Given the description of an element on the screen output the (x, y) to click on. 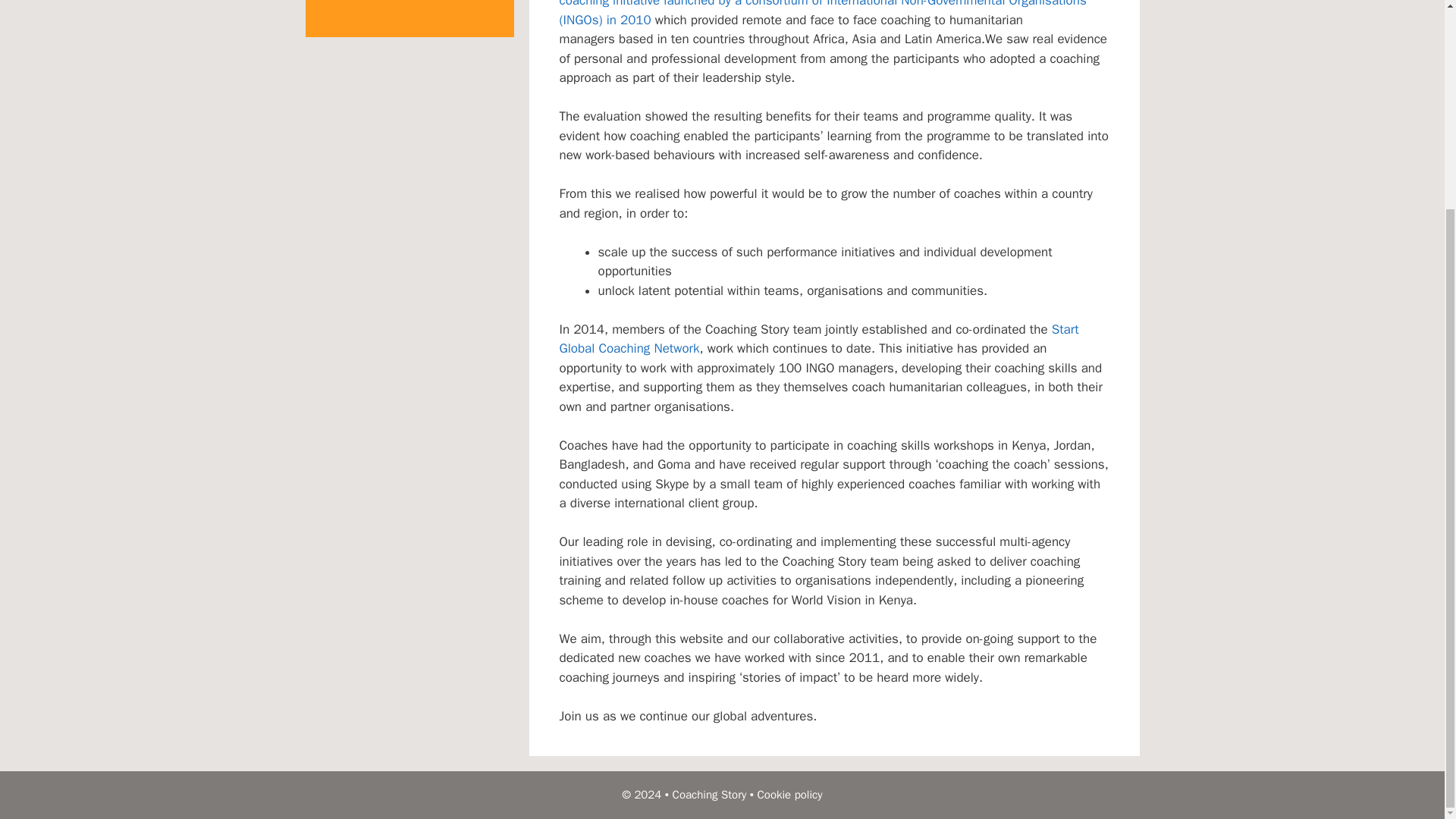
Coaching Story (709, 794)
Cookie policy (789, 794)
Start Global Coaching Network (818, 339)
